Given the description of an element on the screen output the (x, y) to click on. 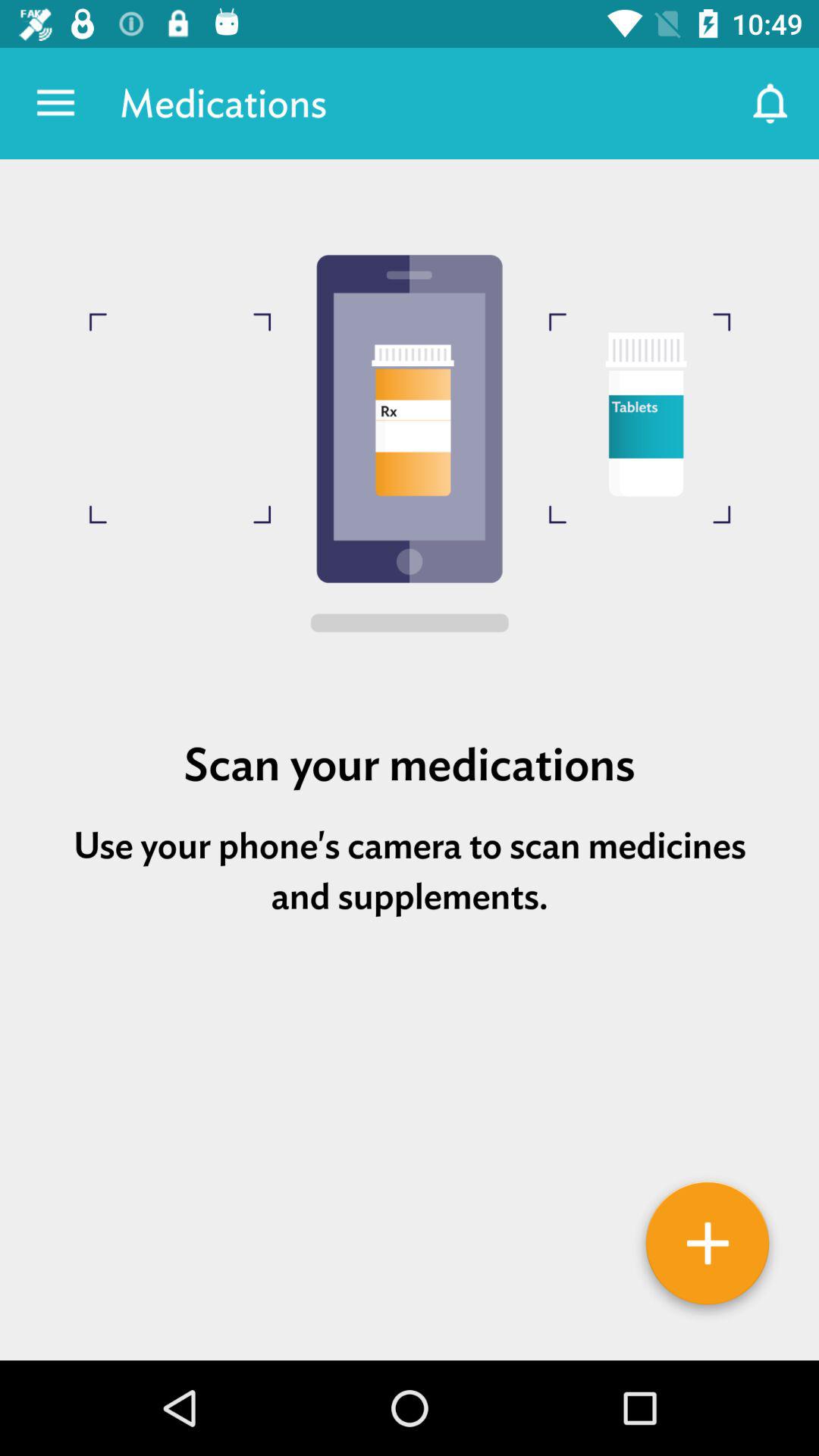
press the app next to the medications item (55, 103)
